Given the description of an element on the screen output the (x, y) to click on. 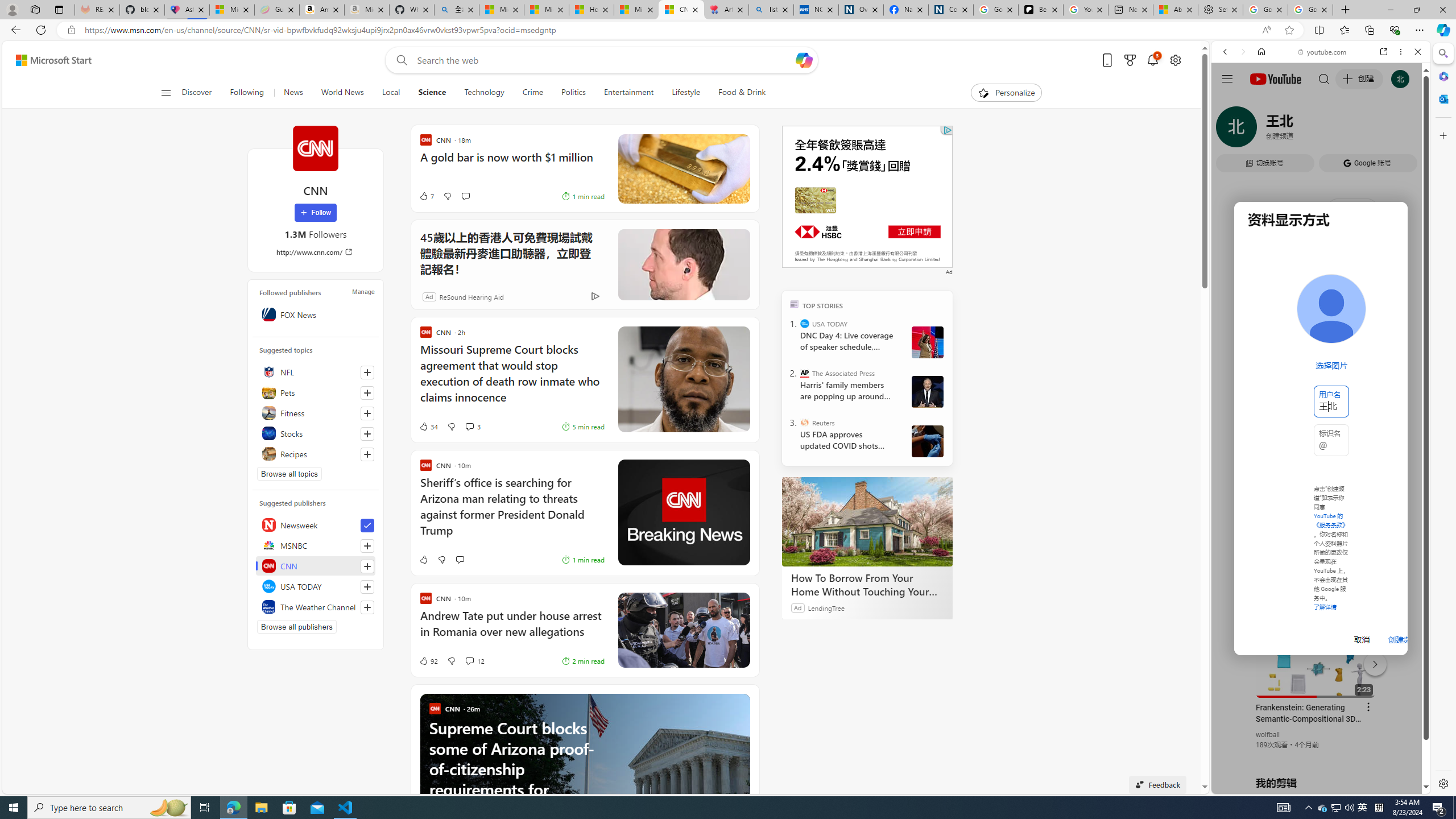
CNN - MSN (681, 9)
Class: qc-adchoices-link top-right  (946, 129)
Search videos from youtube.com (1299, 373)
